Given the description of an element on the screen output the (x, y) to click on. 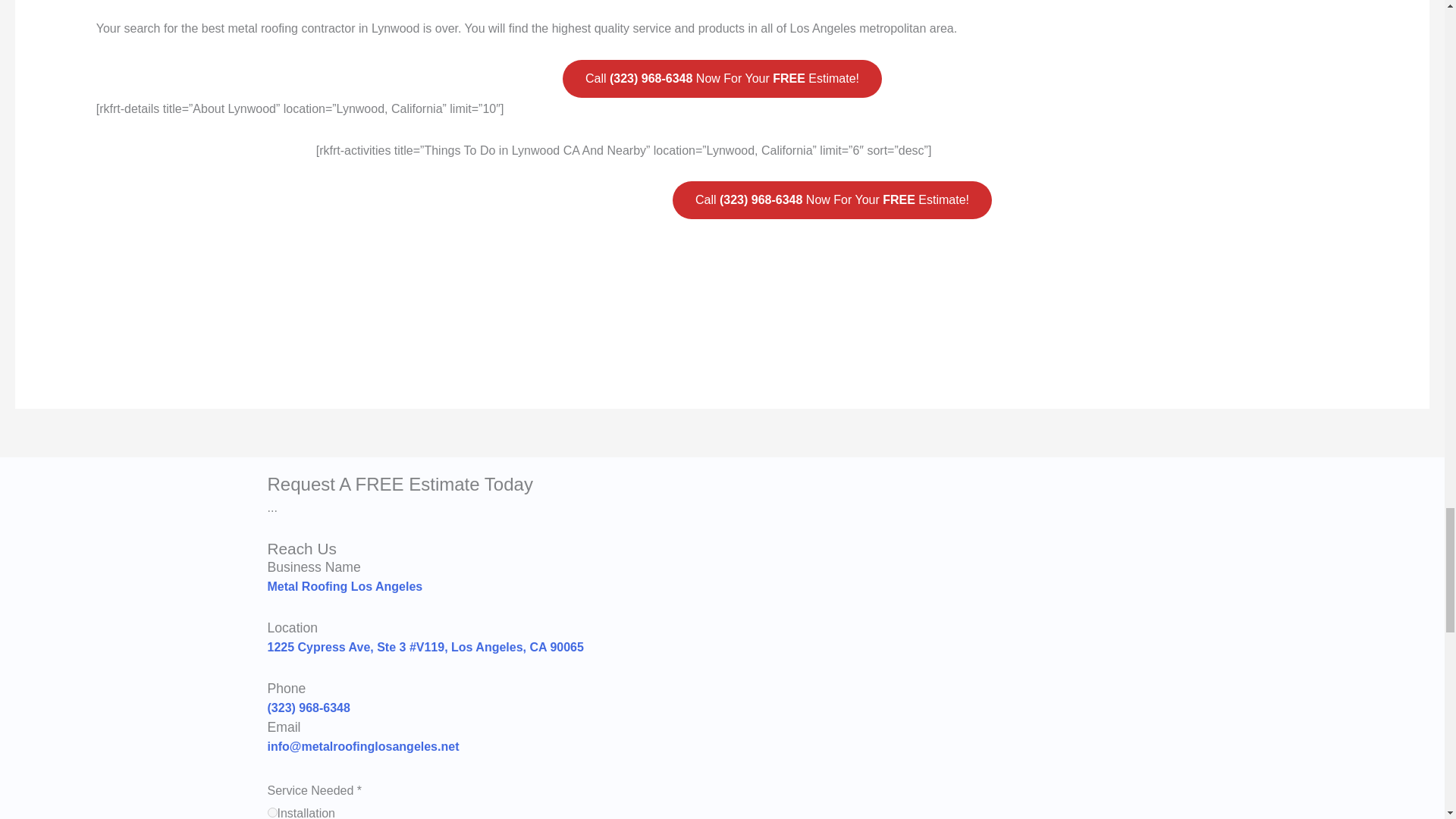
Installation (271, 812)
